Given the description of an element on the screen output the (x, y) to click on. 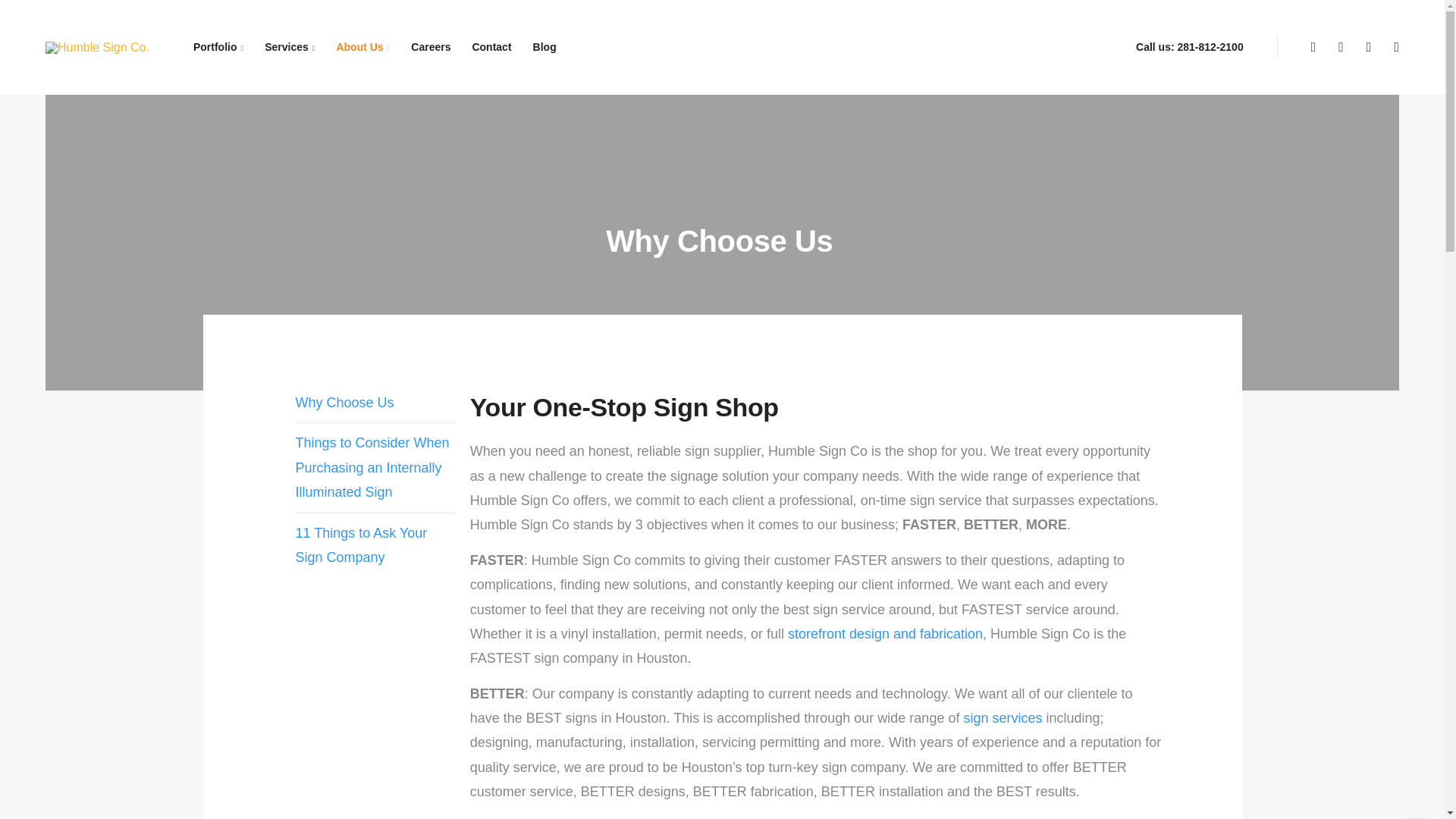
281-812-2100 (1209, 46)
storefront design and fabrication (884, 633)
Why Choose Us (344, 402)
sign services (1002, 717)
11 Things to Ask Your Sign Company (361, 545)
